Given the description of an element on the screen output the (x, y) to click on. 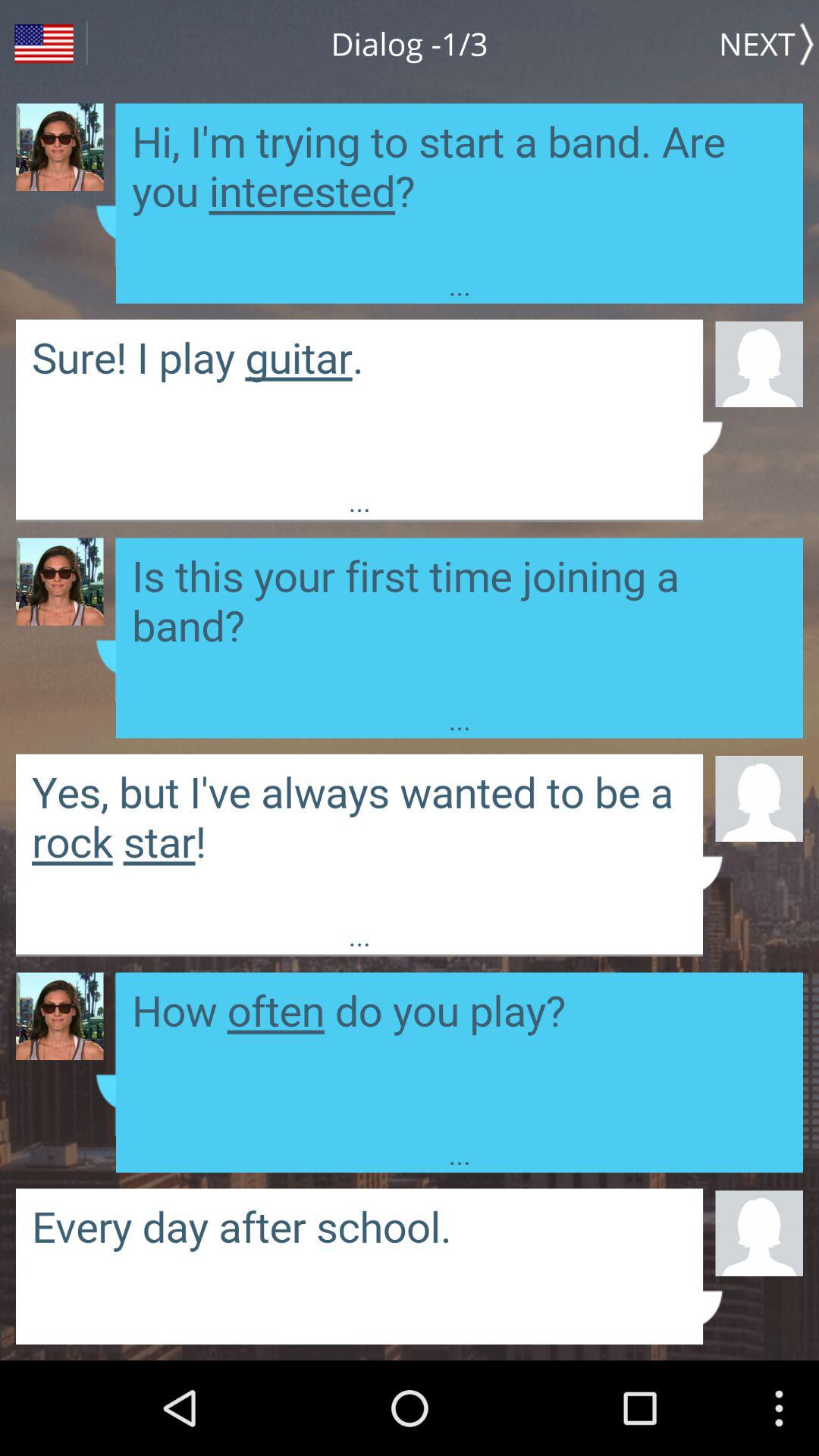
the button is used to play guitar (358, 400)
